Given the description of an element on the screen output the (x, y) to click on. 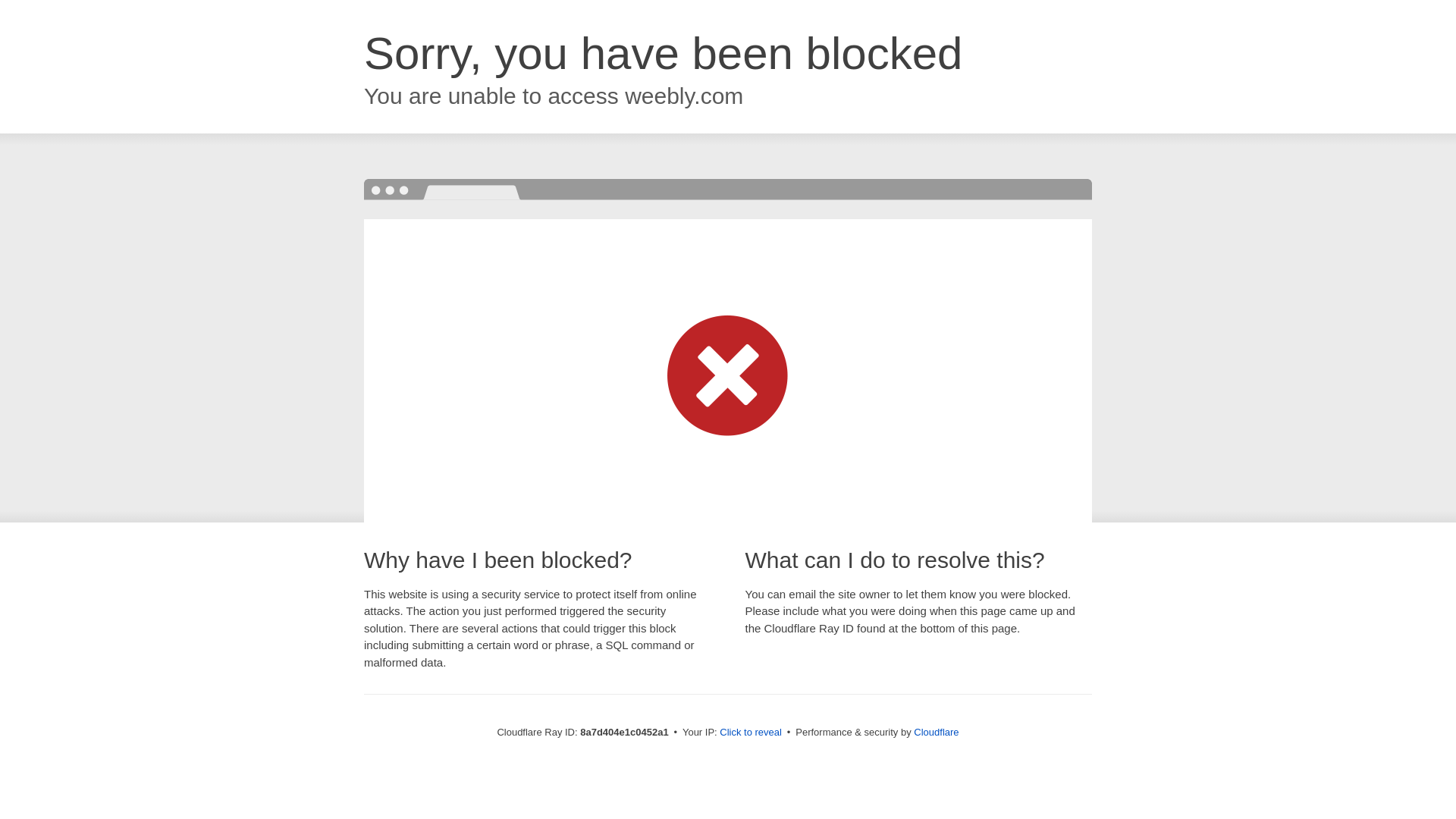
Click to reveal (750, 732)
Cloudflare (936, 731)
